Given the description of an element on the screen output the (x, y) to click on. 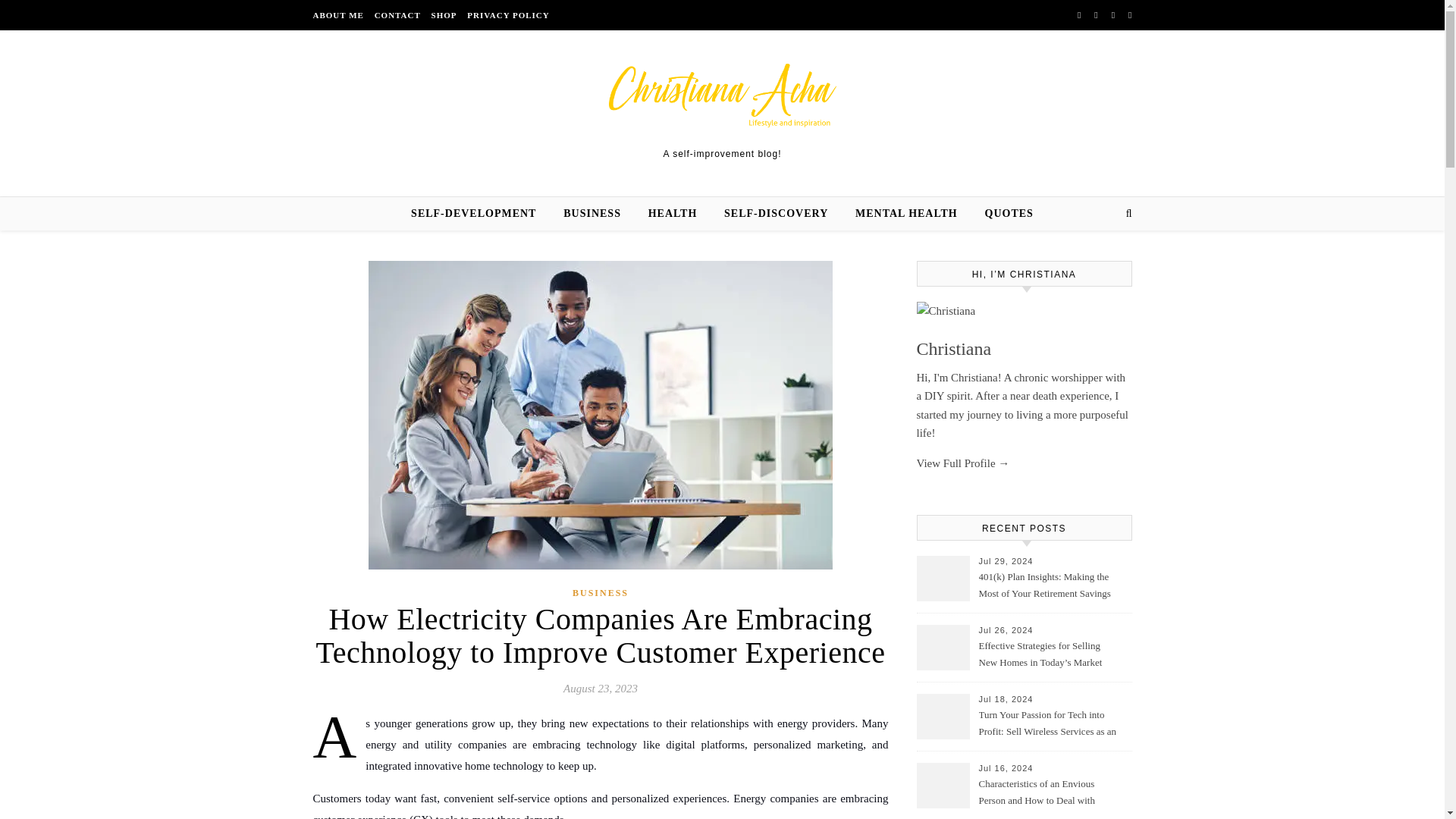
MENTAL HEALTH (906, 213)
SHOP (444, 15)
ABOUT ME (339, 15)
CONTACT (398, 15)
SELF-DEVELOPMENT (479, 213)
BUSINESS (592, 213)
BUSINESS (600, 593)
PRIVACY POLICY (505, 15)
HEALTH (673, 213)
SELF-DISCOVERY (775, 213)
QUOTES (1002, 213)
